Given the description of an element on the screen output the (x, y) to click on. 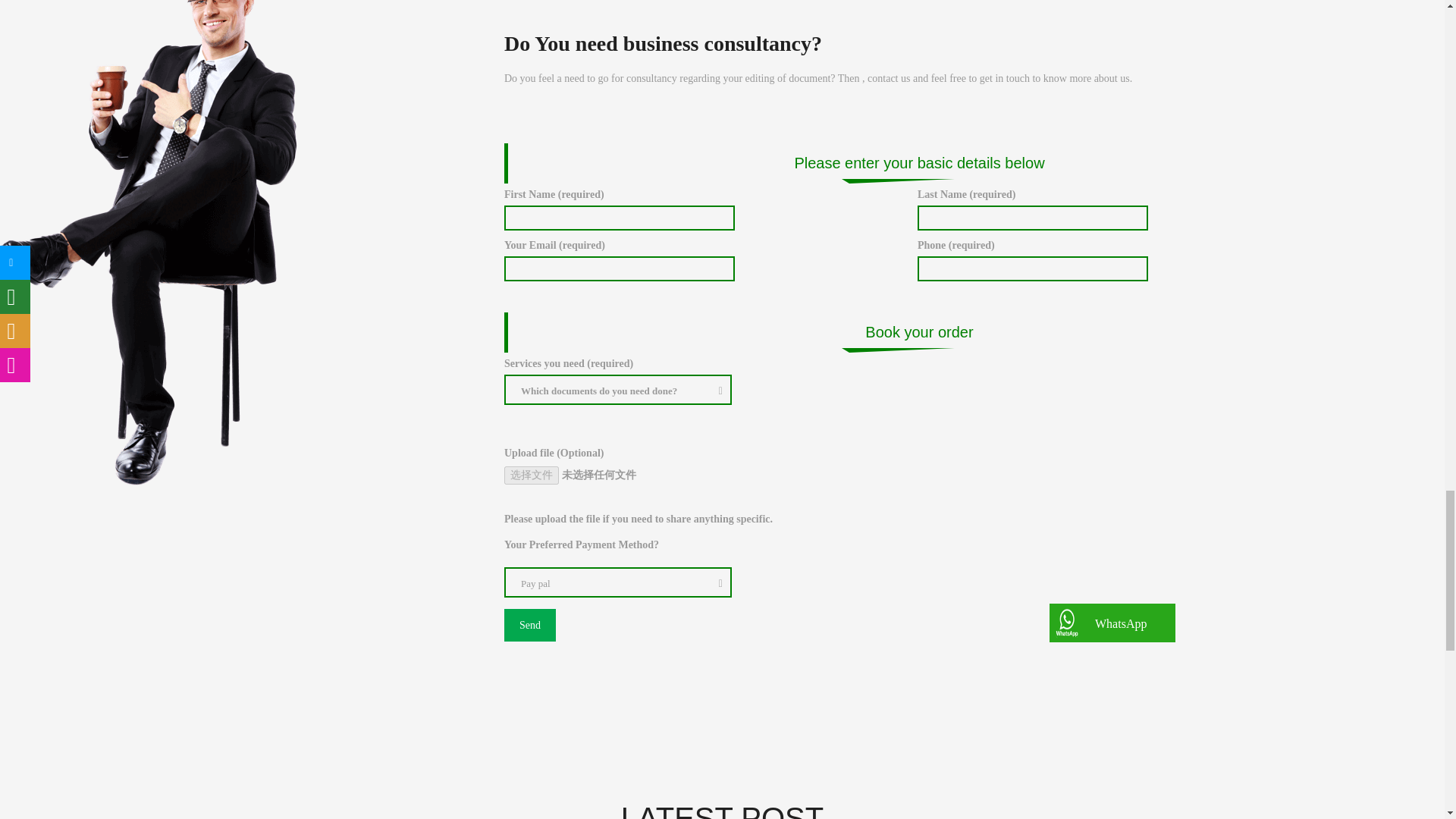
Send (529, 625)
